Given the description of an element on the screen output the (x, y) to click on. 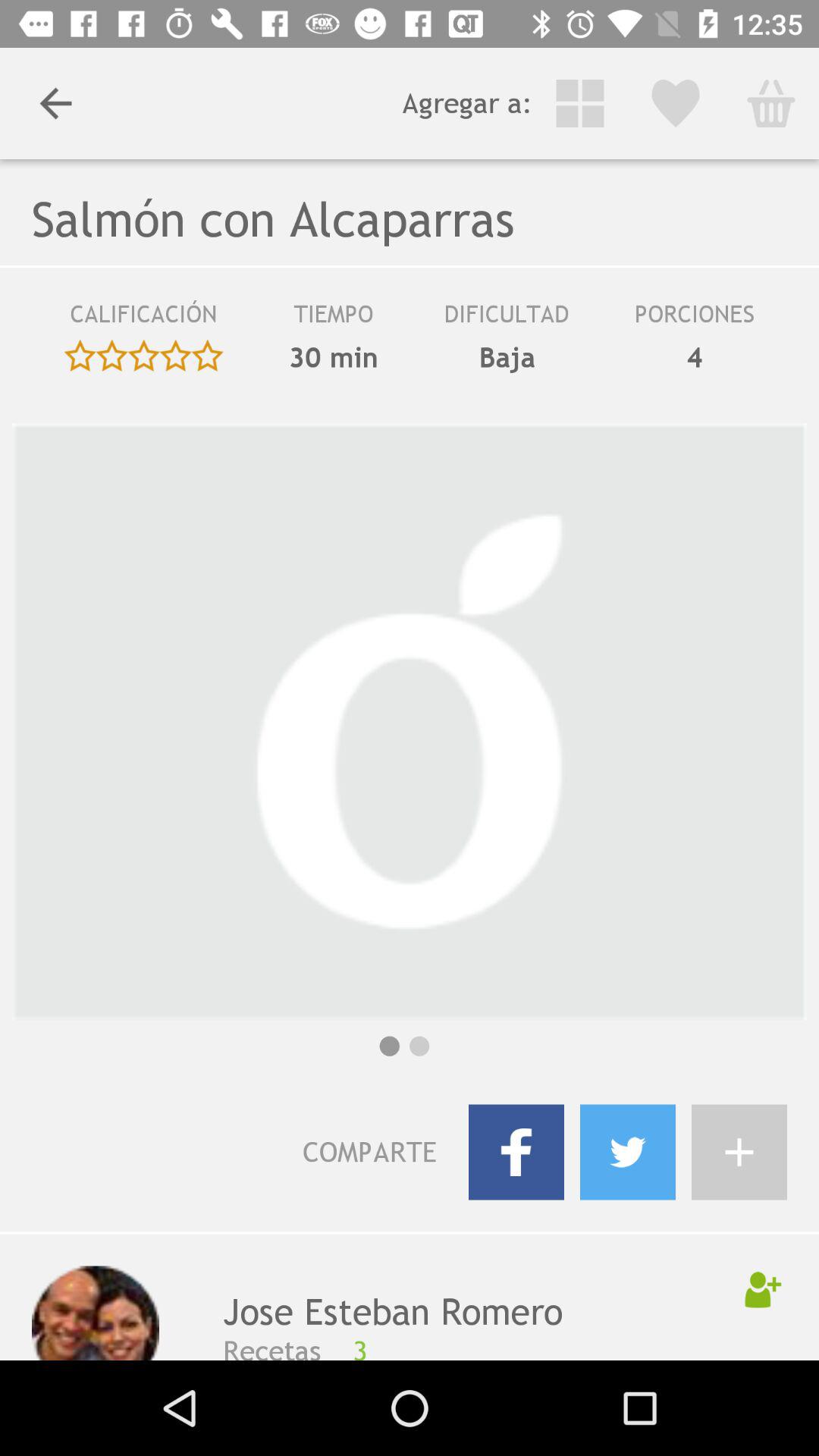
post to facebook (516, 1152)
